Given the description of an element on the screen output the (x, y) to click on. 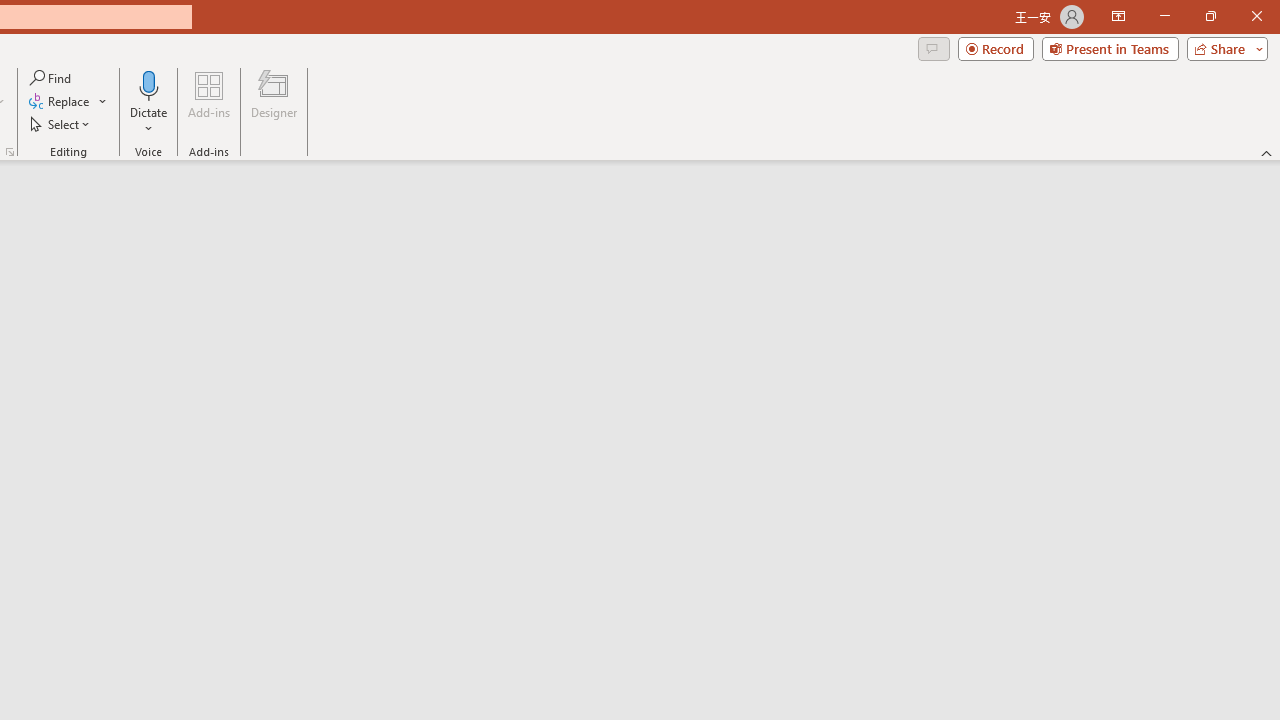
Replace... (68, 101)
Find... (51, 78)
